Given the description of an element on the screen output the (x, y) to click on. 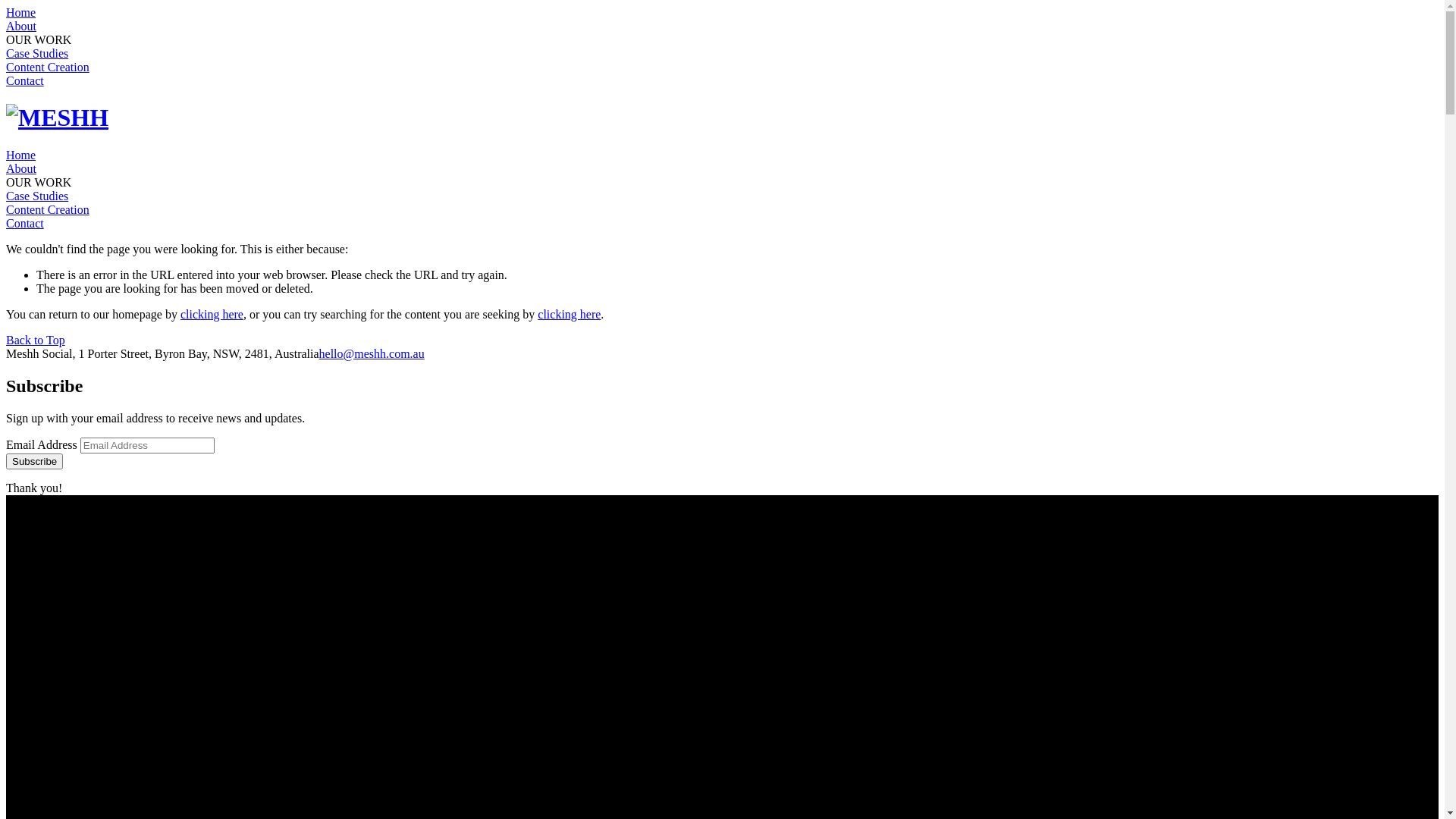
Back to Top Element type: text (35, 339)
Home Element type: text (20, 154)
Case Studies Element type: text (37, 53)
Content Creation Element type: text (47, 209)
Contact Element type: text (24, 222)
Home Element type: text (20, 12)
Content Creation Element type: text (47, 66)
clicking here Element type: text (211, 313)
clicking here Element type: text (568, 313)
hello@meshh.com.au Element type: text (371, 353)
About Element type: text (21, 25)
About Element type: text (21, 168)
Subscribe Element type: text (34, 461)
Case Studies Element type: text (37, 195)
Contact Element type: text (24, 80)
